Given the description of an element on the screen output the (x, y) to click on. 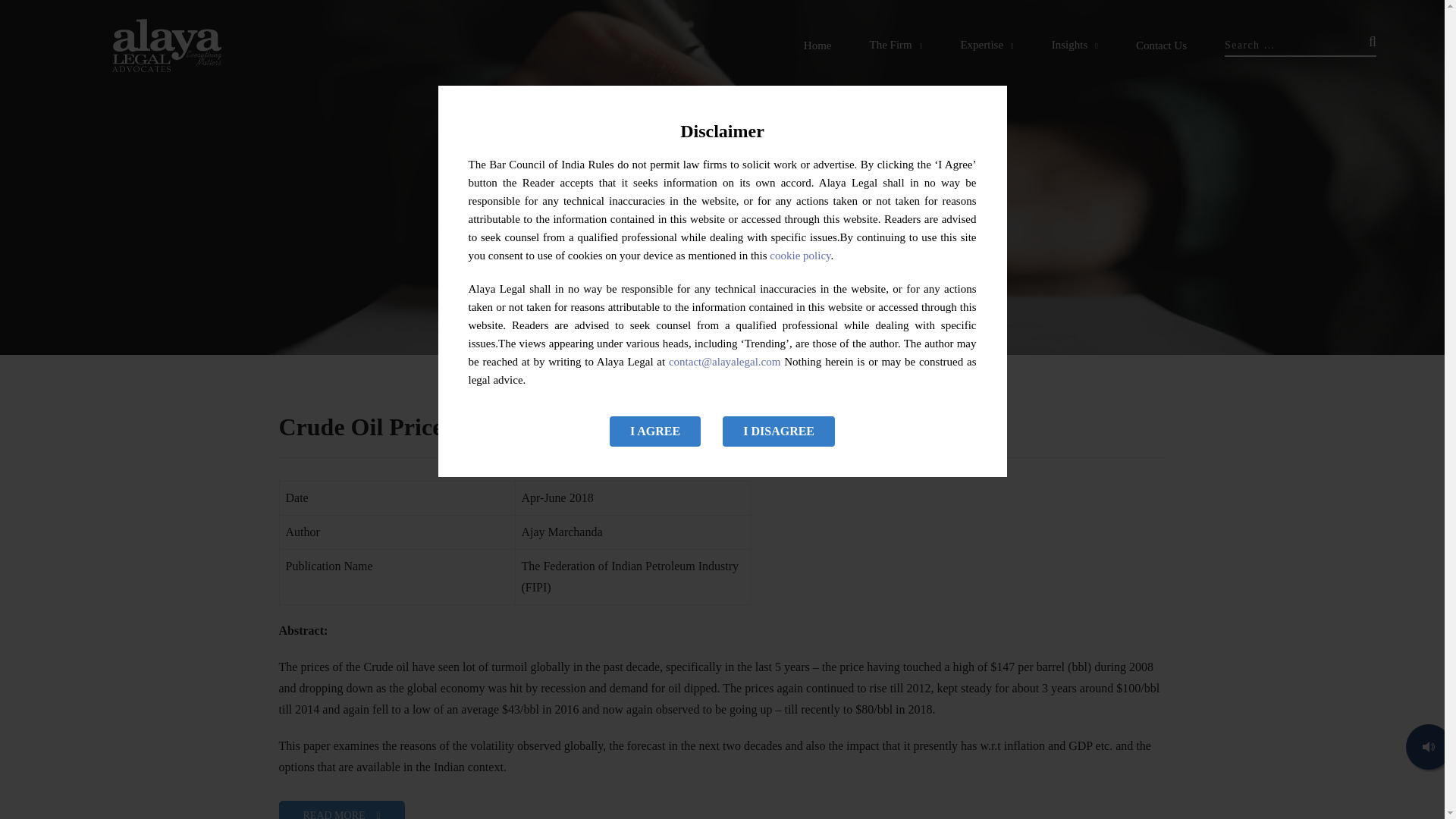
Insights (1074, 45)
Read More (341, 809)
cookie policy (799, 255)
Contact Us (1160, 45)
I DISAGREE (778, 431)
The Firm (896, 45)
Expertise (986, 45)
